Given the description of an element on the screen output the (x, y) to click on. 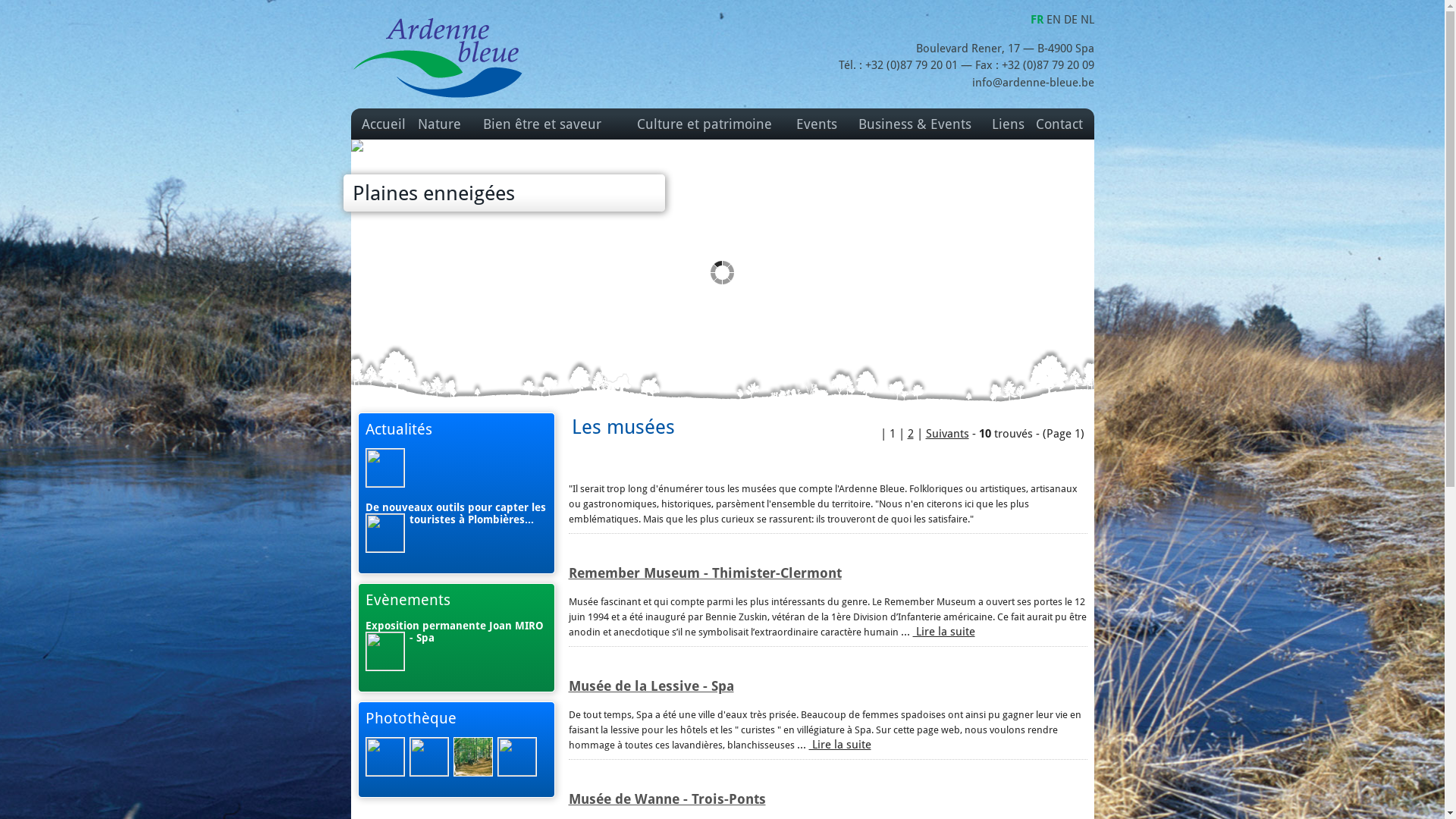
Contact Element type: text (1058, 124)
Liens Element type: text (1007, 124)
Nature Element type: text (439, 124)
Suivants Element type: text (946, 433)
2 Element type: text (909, 433)
Remember Museum - Thimister-Clermont Element type: text (704, 572)
Business & Events Element type: text (914, 124)
Culture et patrimoine Element type: text (704, 124)
 Lire la suite Element type: text (839, 744)
Events Element type: text (816, 124)
DE Element type: text (1071, 19)
EN Element type: text (1054, 19)
Exposition permanente Joan MIRO - Spa Element type: text (454, 631)
 Lire la suite Element type: text (944, 631)
Accueil Element type: text (383, 124)
NL Element type: text (1086, 19)
FR Element type: text (1037, 19)
